Given the description of an element on the screen output the (x, y) to click on. 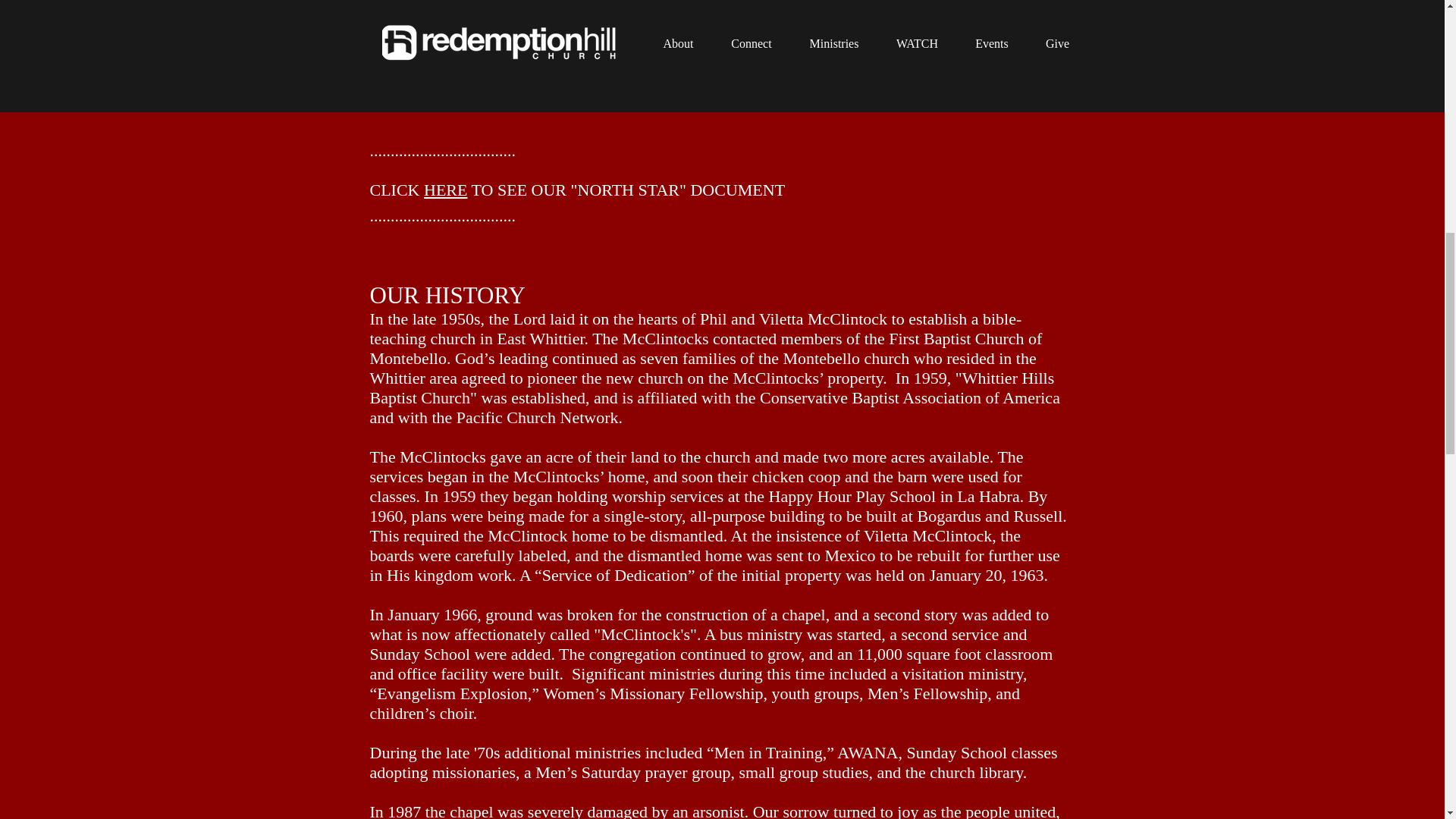
HERE (445, 189)
